Given the description of an element on the screen output the (x, y) to click on. 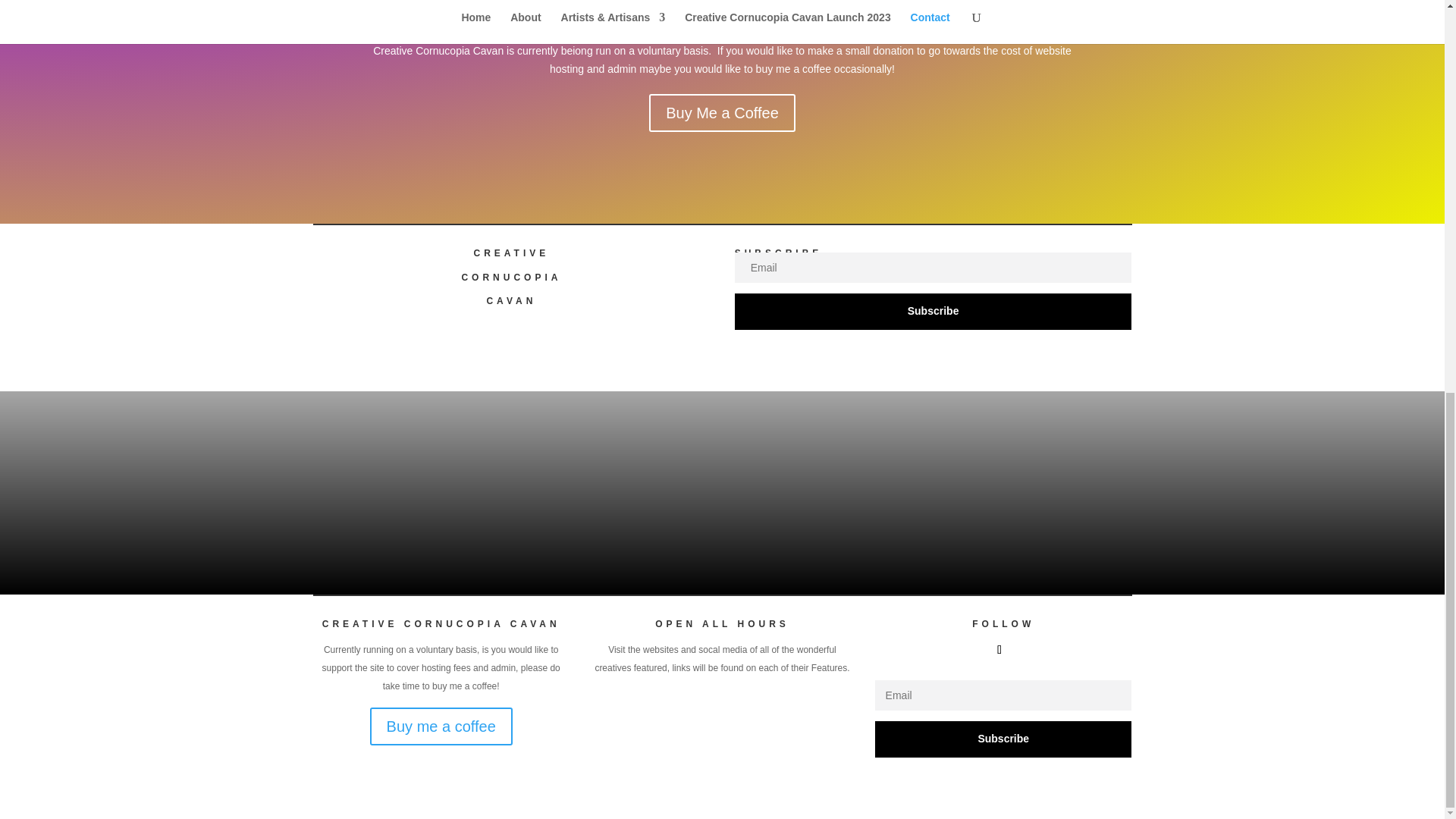
Follow on Facebook (999, 649)
